Given the description of an element on the screen output the (x, y) to click on. 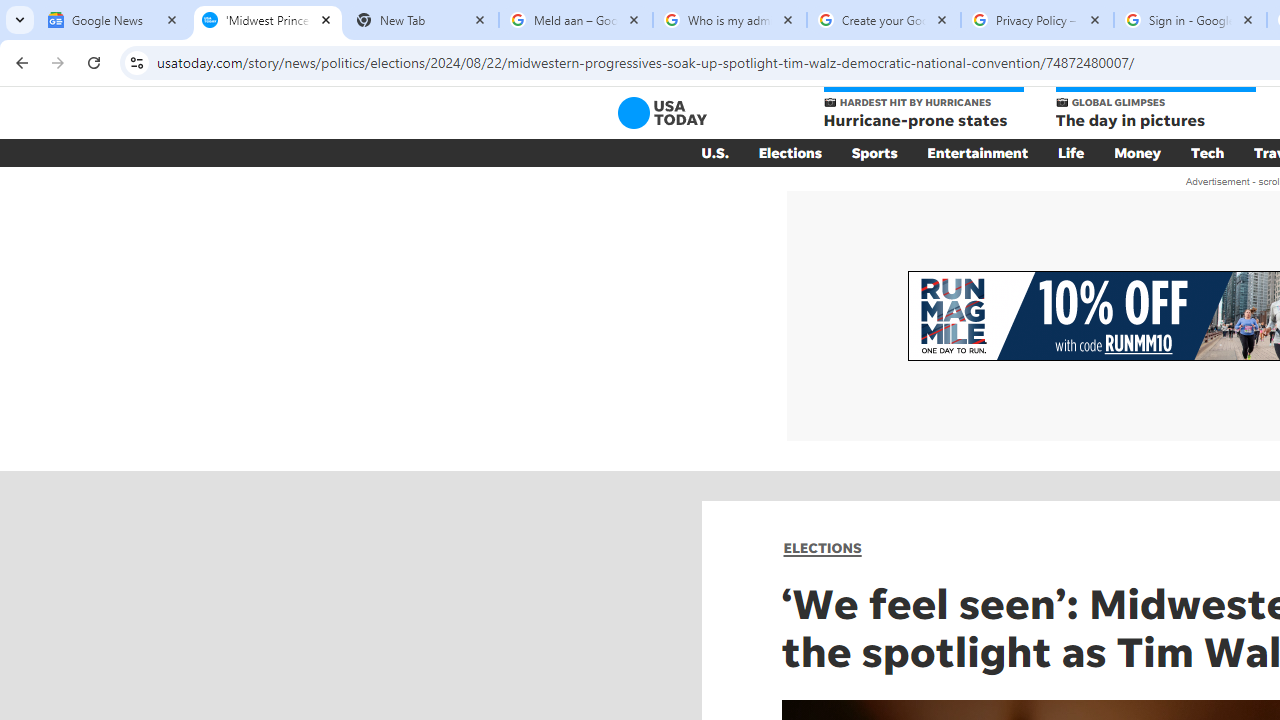
Create your Google Account (883, 20)
Life (1071, 152)
Search tabs (20, 20)
Tech (1207, 152)
USA TODAY (661, 112)
Entertainment (977, 152)
Elections (789, 152)
Google News (113, 20)
Who is my administrator? - Google Account Help (729, 20)
